Given the description of an element on the screen output the (x, y) to click on. 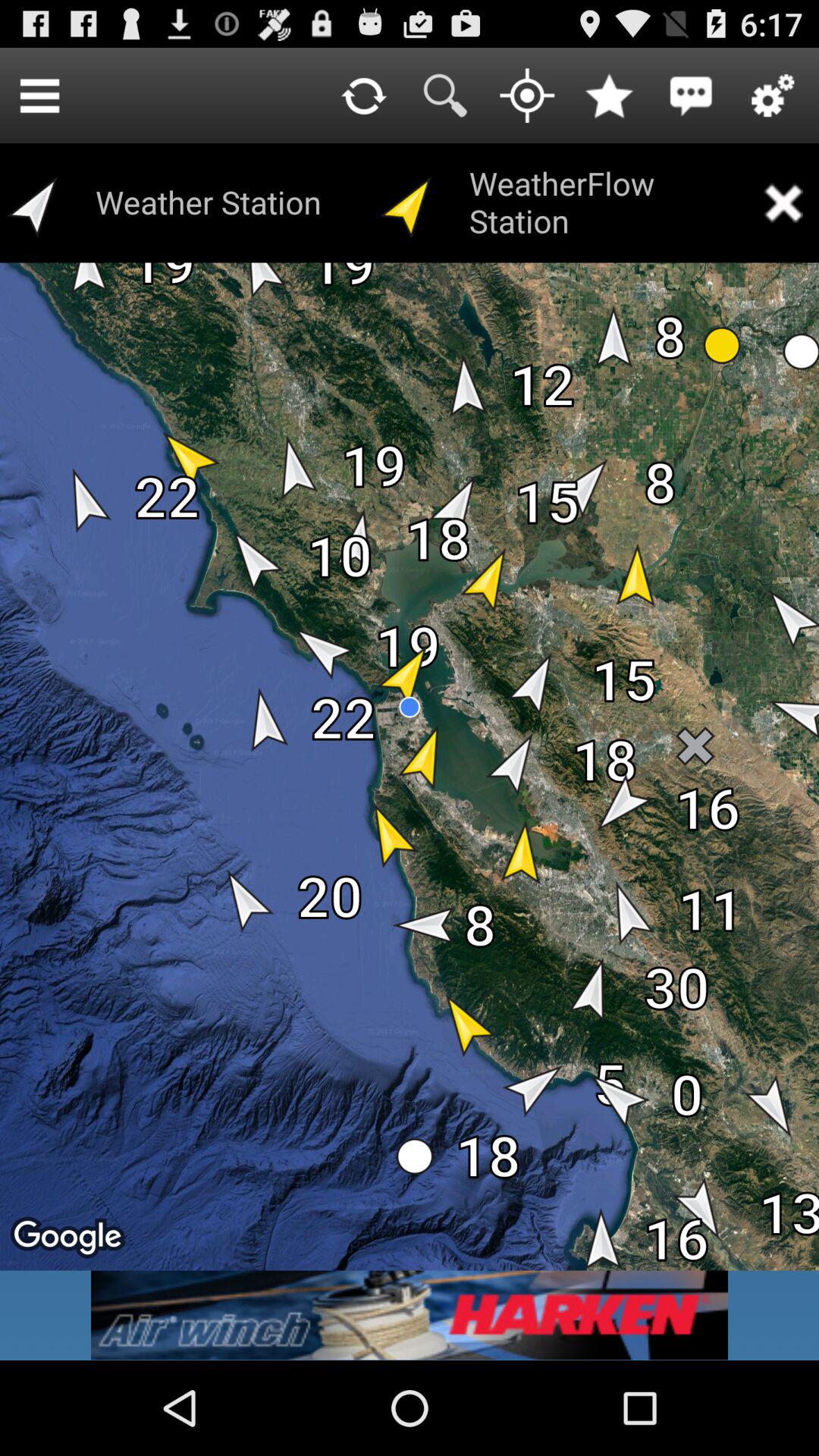
open settings (772, 95)
